Given the description of an element on the screen output the (x, y) to click on. 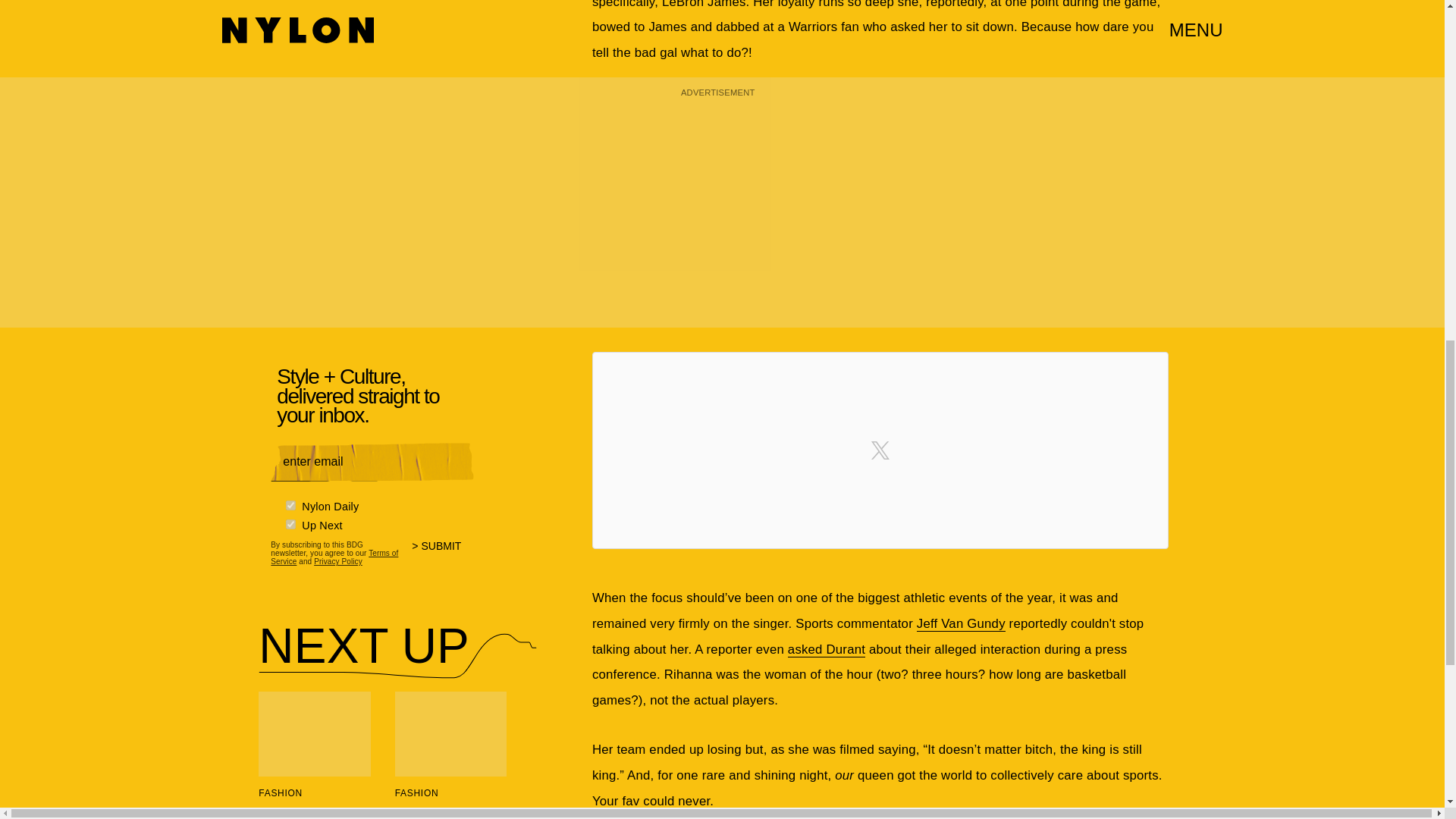
asked Durant (825, 649)
SUBMIT (443, 555)
Privacy Policy (338, 561)
Terms of Service (333, 556)
Jeff Van Gundy (961, 623)
